Given the description of an element on the screen output the (x, y) to click on. 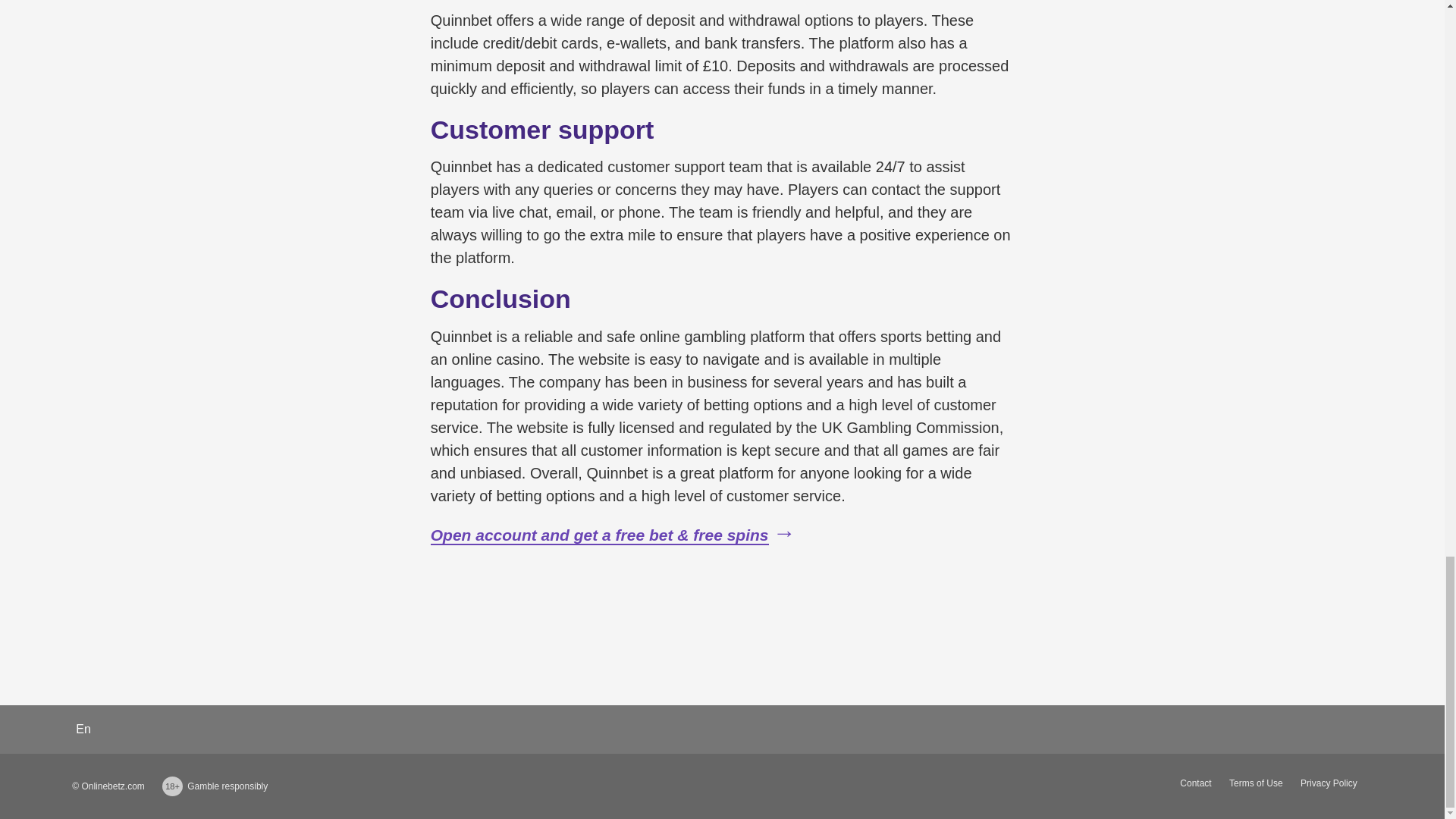
Contact (1195, 783)
Gamble responsibly (227, 786)
Privacy Policy (1328, 783)
En (82, 728)
Terms of Use (1255, 783)
